Given the description of an element on the screen output the (x, y) to click on. 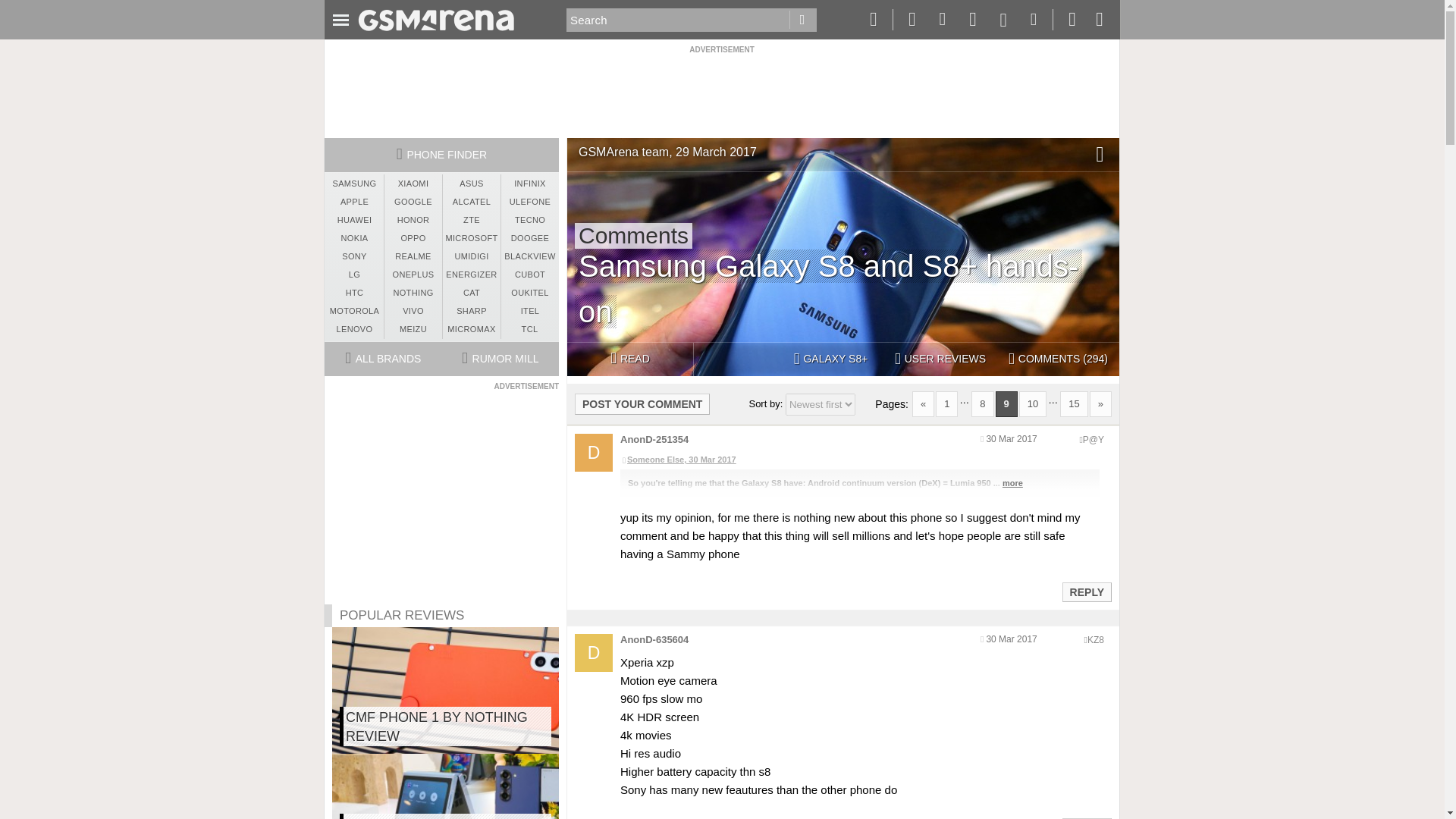
POST YOUR COMMENT (642, 403)
USER REVIEWS (940, 359)
Encoded anonymized location (1095, 639)
Go (802, 19)
10 (1032, 403)
Encoded anonymized location (1093, 439)
Go (802, 19)
Sort comments by (821, 404)
Reply to this post (1086, 592)
READ (630, 359)
